Given the description of an element on the screen output the (x, y) to click on. 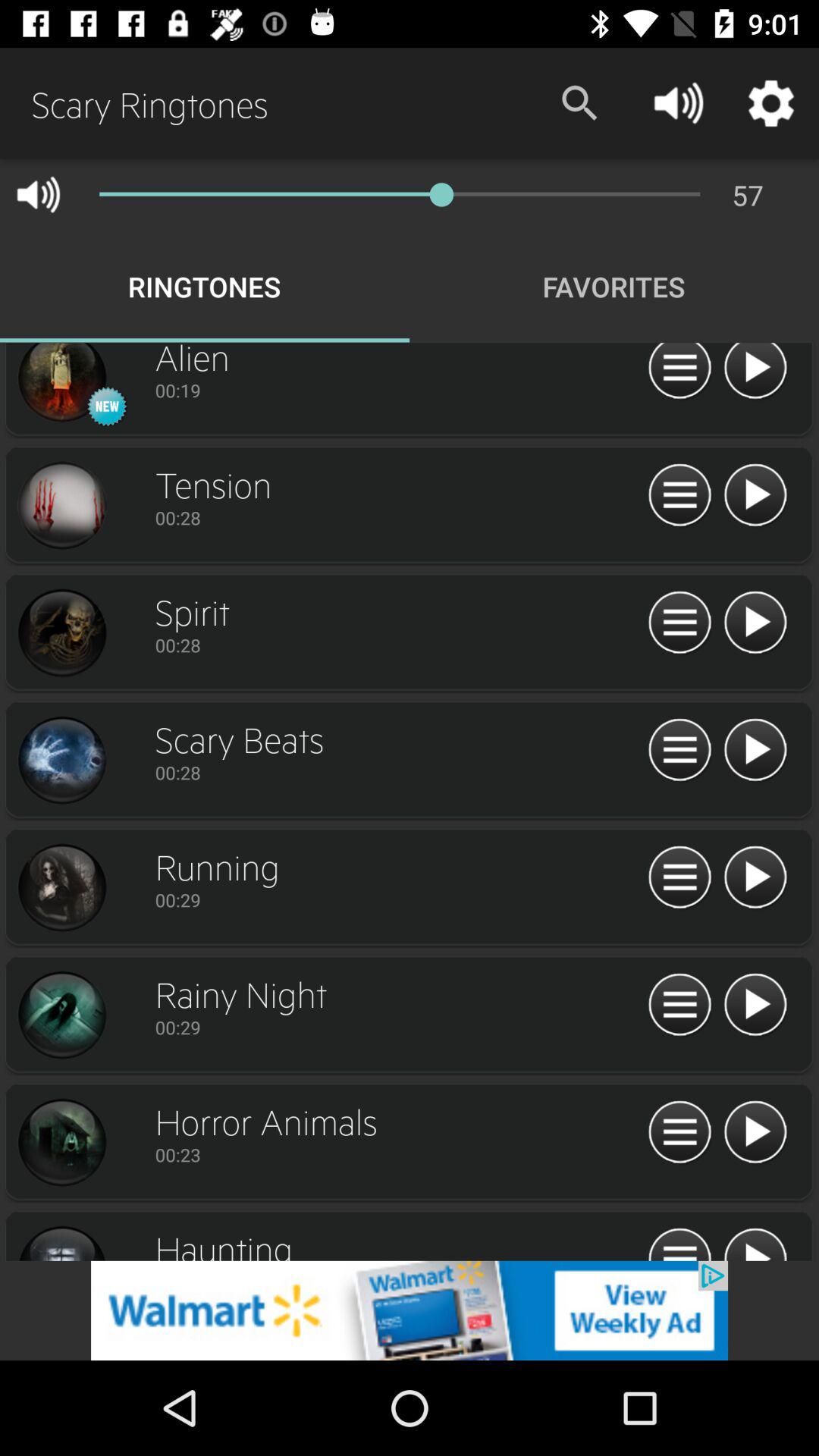
go to track (61, 505)
